Given the description of an element on the screen output the (x, y) to click on. 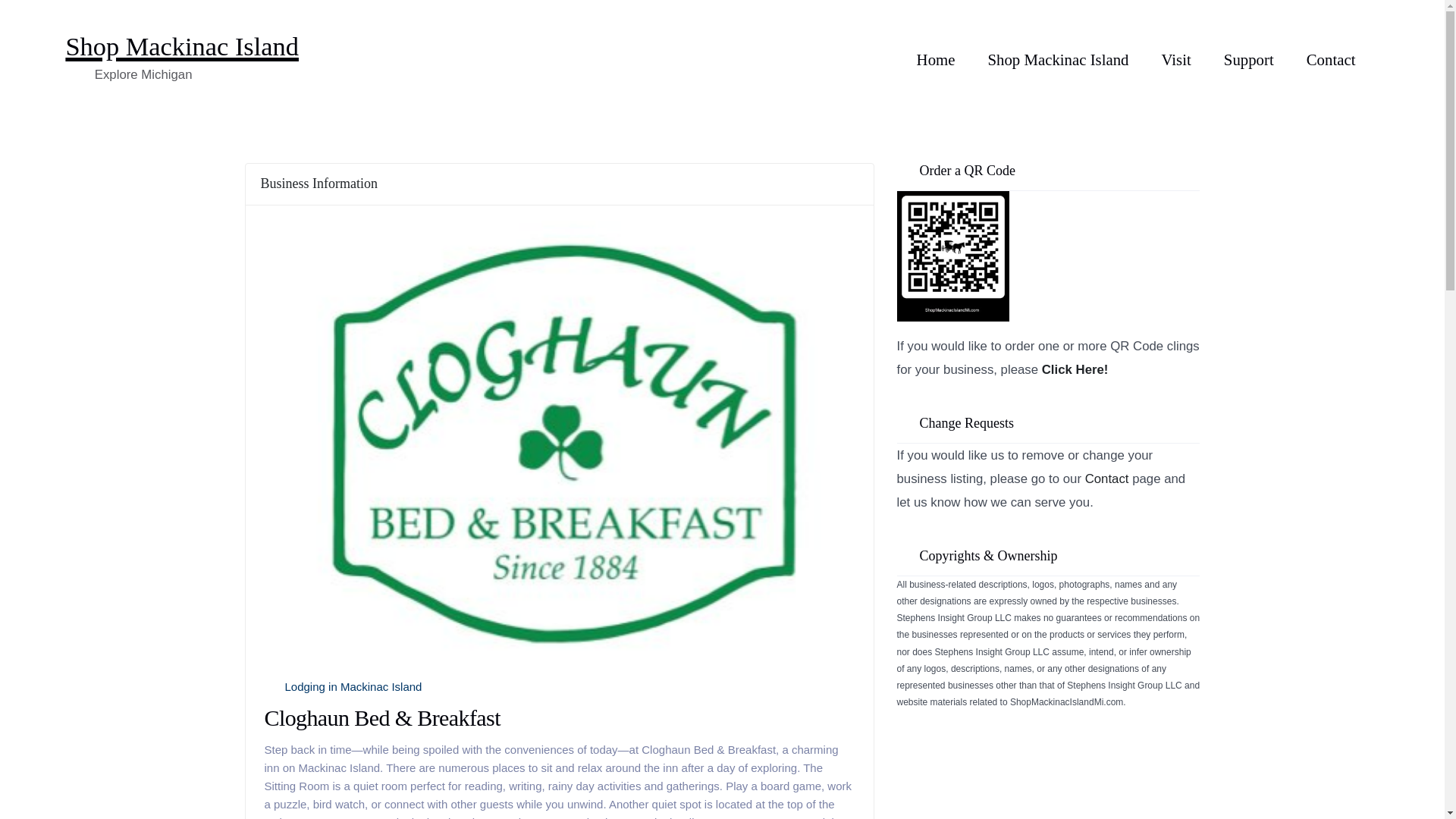
Visit (1176, 59)
Lodging in Mackinac Island (353, 686)
Support (1249, 59)
Contact (1330, 59)
Home (936, 59)
Shop Mackinac Island (181, 47)
Shop Mackinac Island (1057, 59)
